Given the description of an element on the screen output the (x, y) to click on. 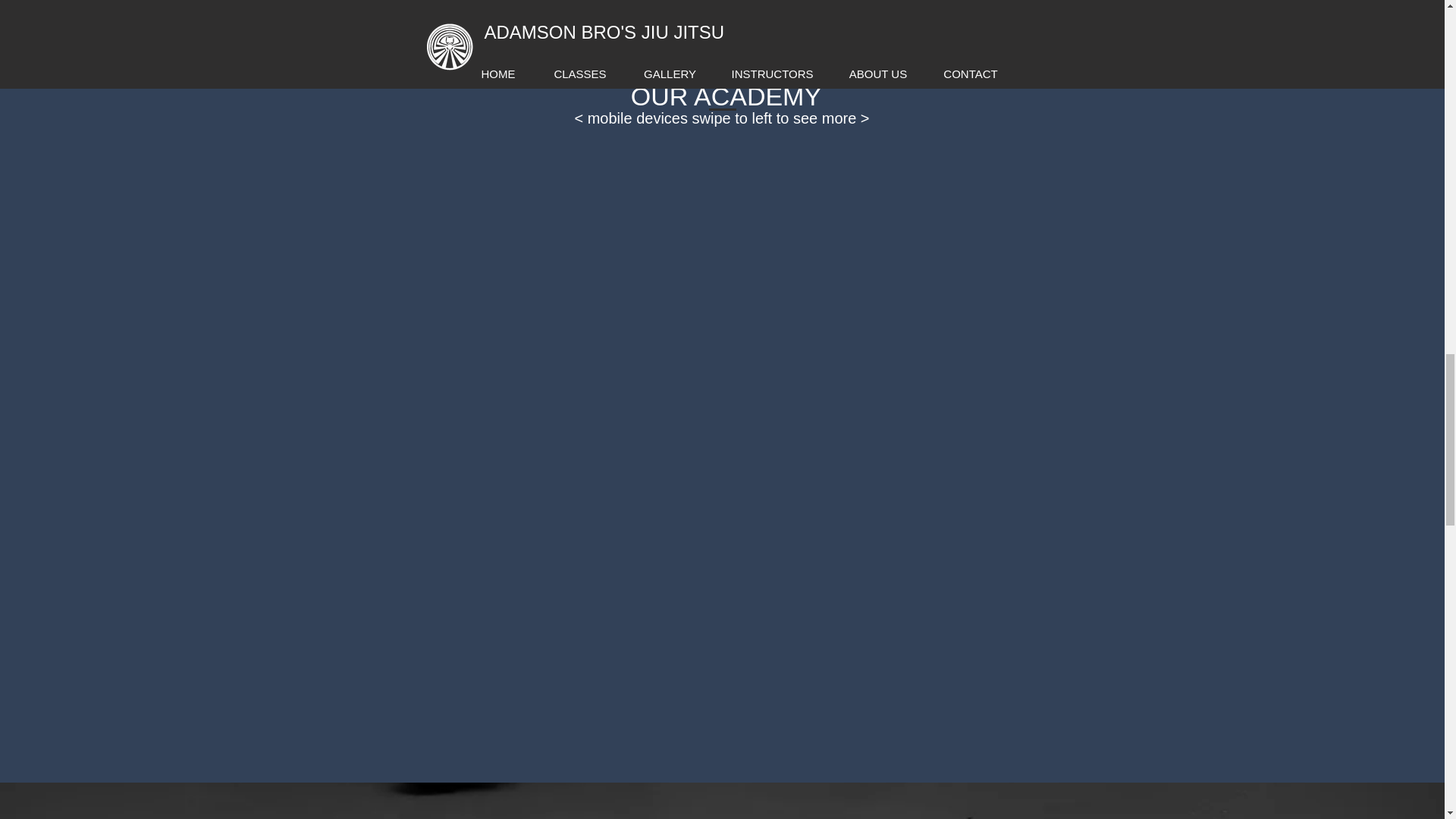
External YouTube (732, 33)
